Given the description of an element on the screen output the (x, y) to click on. 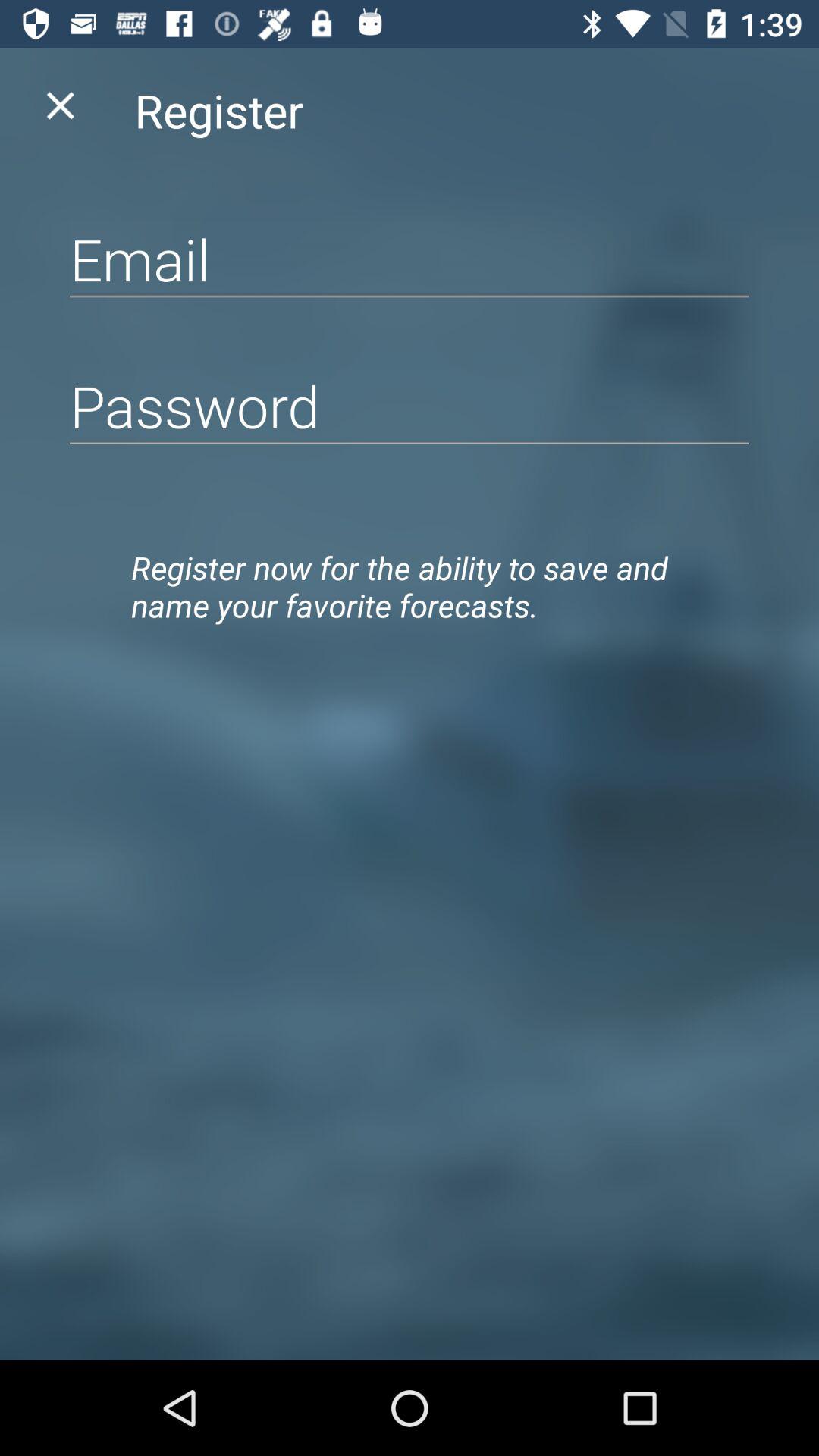
enter e-mail (409, 258)
